Given the description of an element on the screen output the (x, y) to click on. 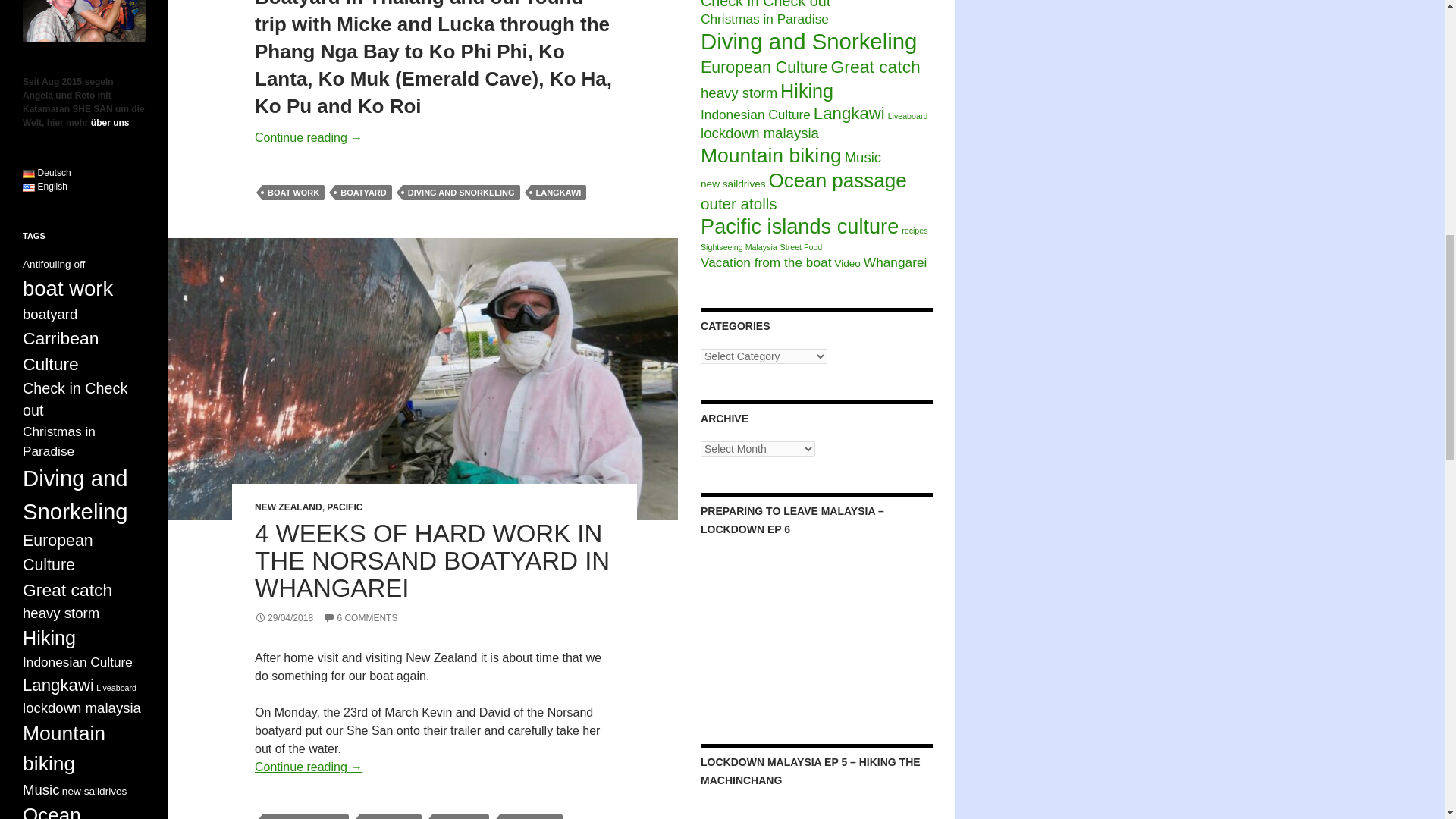
LANGKAWI (558, 192)
BOAT WORK (293, 192)
DIVING AND SNORKELING (461, 192)
BOATYARD (362, 192)
